Given the description of an element on the screen output the (x, y) to click on. 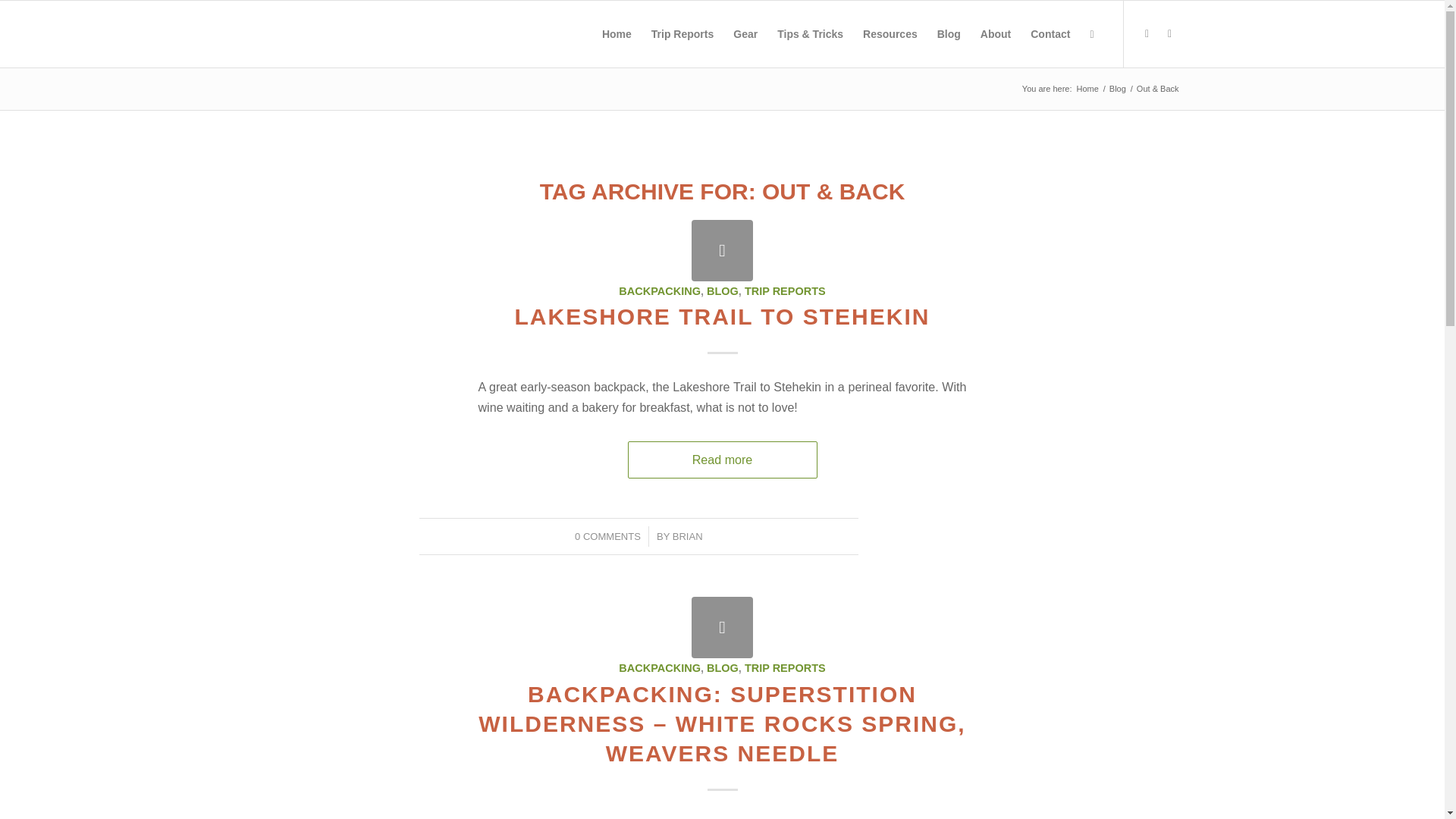
Posts by Brian (687, 536)
Trip Reports (682, 33)
BLOG (722, 291)
Read more (721, 459)
BLOG (722, 667)
BRIAN (687, 536)
Blog (1117, 89)
LAKESHORE TRAIL TO STEHEKIN (722, 316)
TRIP REPORTS (784, 291)
Home (1087, 89)
